Given the description of an element on the screen output the (x, y) to click on. 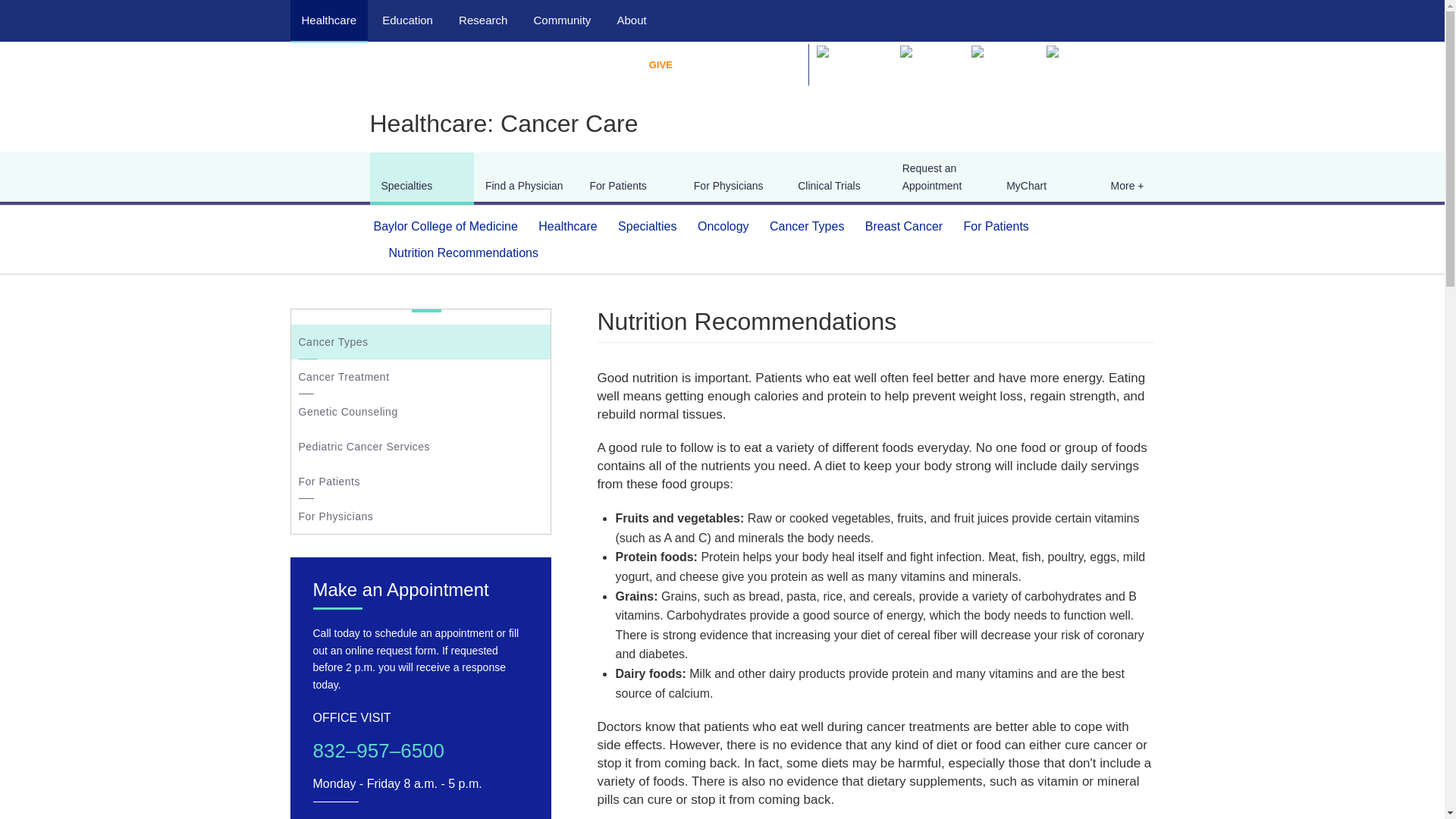
Education (406, 19)
Healthcare (328, 19)
Nutrition Recommendations (462, 252)
For Patients (996, 226)
Healthcare (567, 226)
Breast Cancer (903, 226)
Cancer Types (807, 226)
Specialties (647, 226)
Oncology (723, 226)
